Given the description of an element on the screen output the (x, y) to click on. 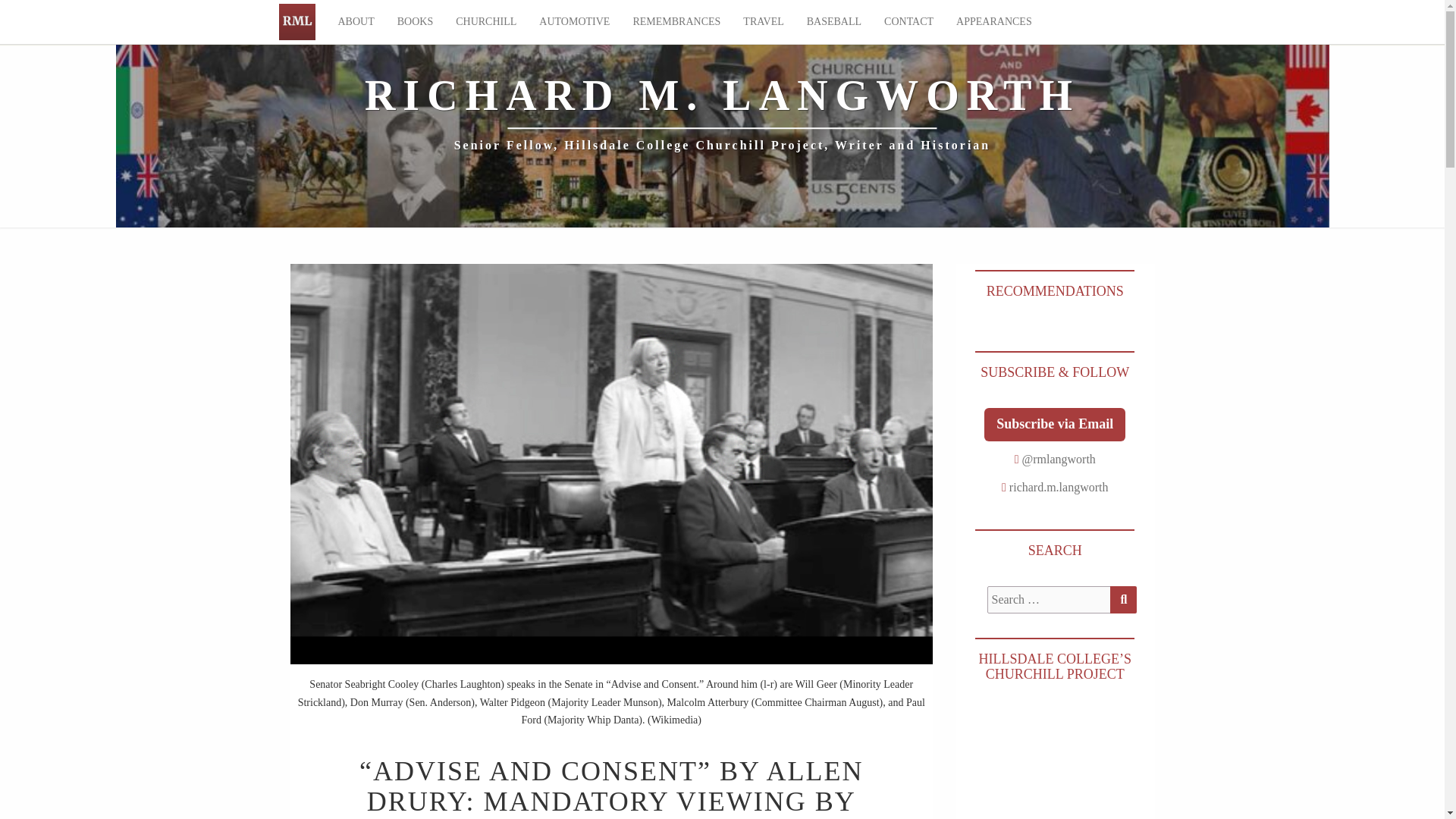
BOOKS (414, 22)
REMEMBRANCES (676, 22)
BASEBALL (833, 22)
TRAVEL (763, 22)
CHURCHILL (485, 22)
Remembrances (676, 22)
Churchill (485, 22)
RICHARD M. LANGWORTH (297, 22)
CONTACT (908, 22)
